Given the description of an element on the screen output the (x, y) to click on. 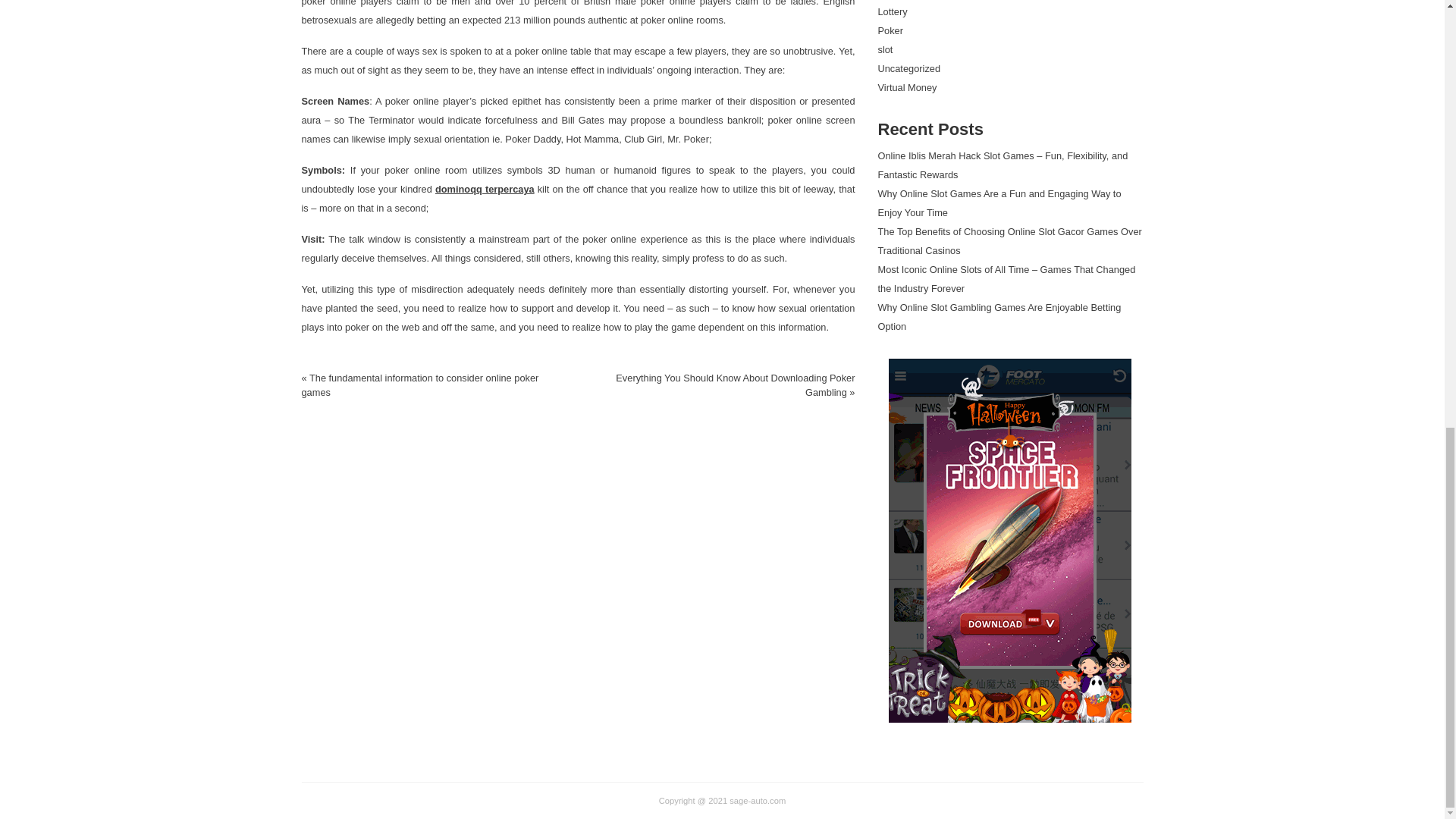
Lottery (892, 11)
The fundamental information to consider online poker games (419, 385)
Virtual Money (907, 87)
Uncategorized (908, 68)
Why Online Slot Gambling Games Are Enjoyable Betting Option (999, 317)
Poker (889, 30)
slot (885, 49)
dominoqq terpercaya (484, 188)
